Given the description of an element on the screen output the (x, y) to click on. 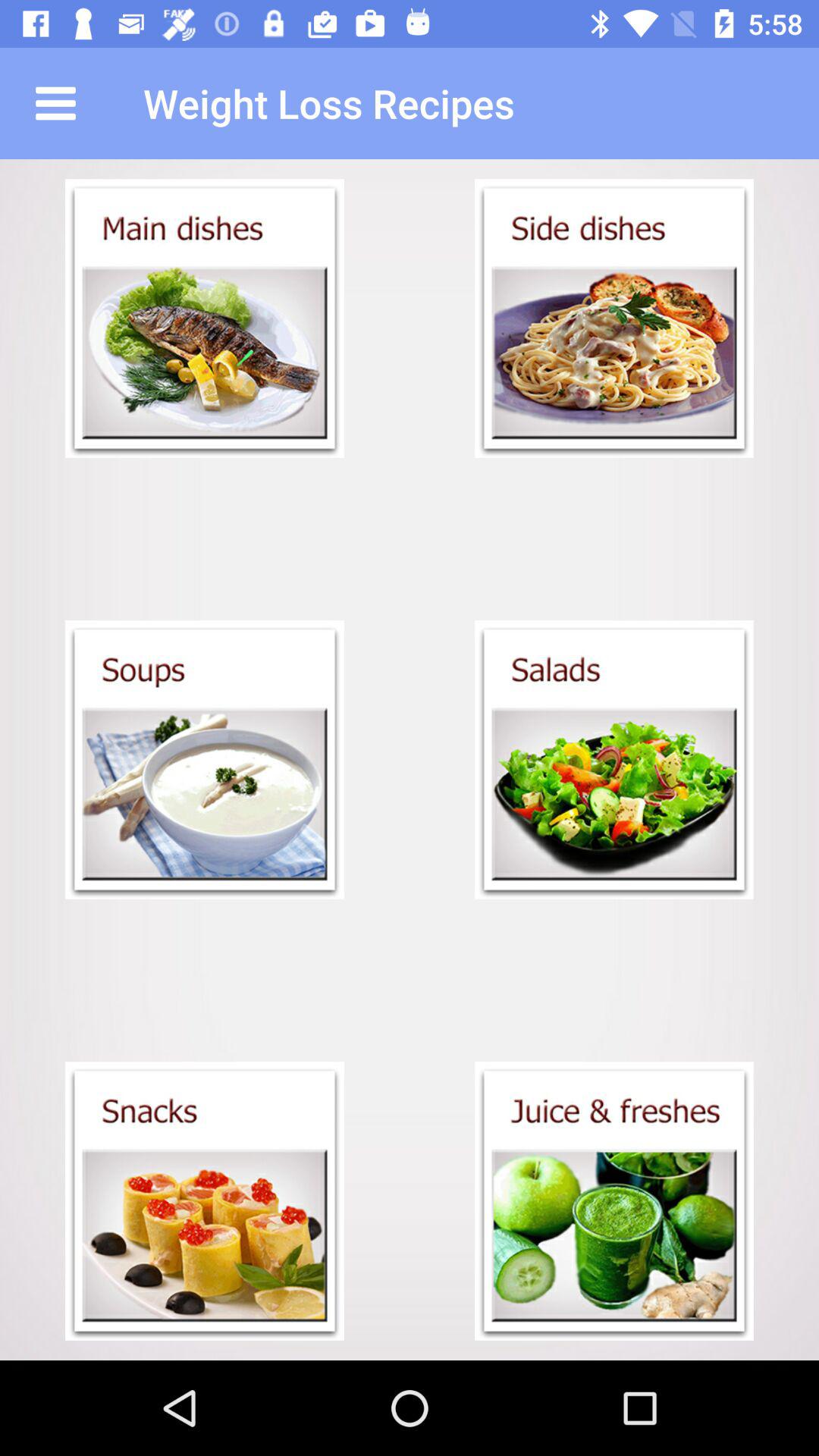
press the item at the bottom right corner (614, 1200)
